Given the description of an element on the screen output the (x, y) to click on. 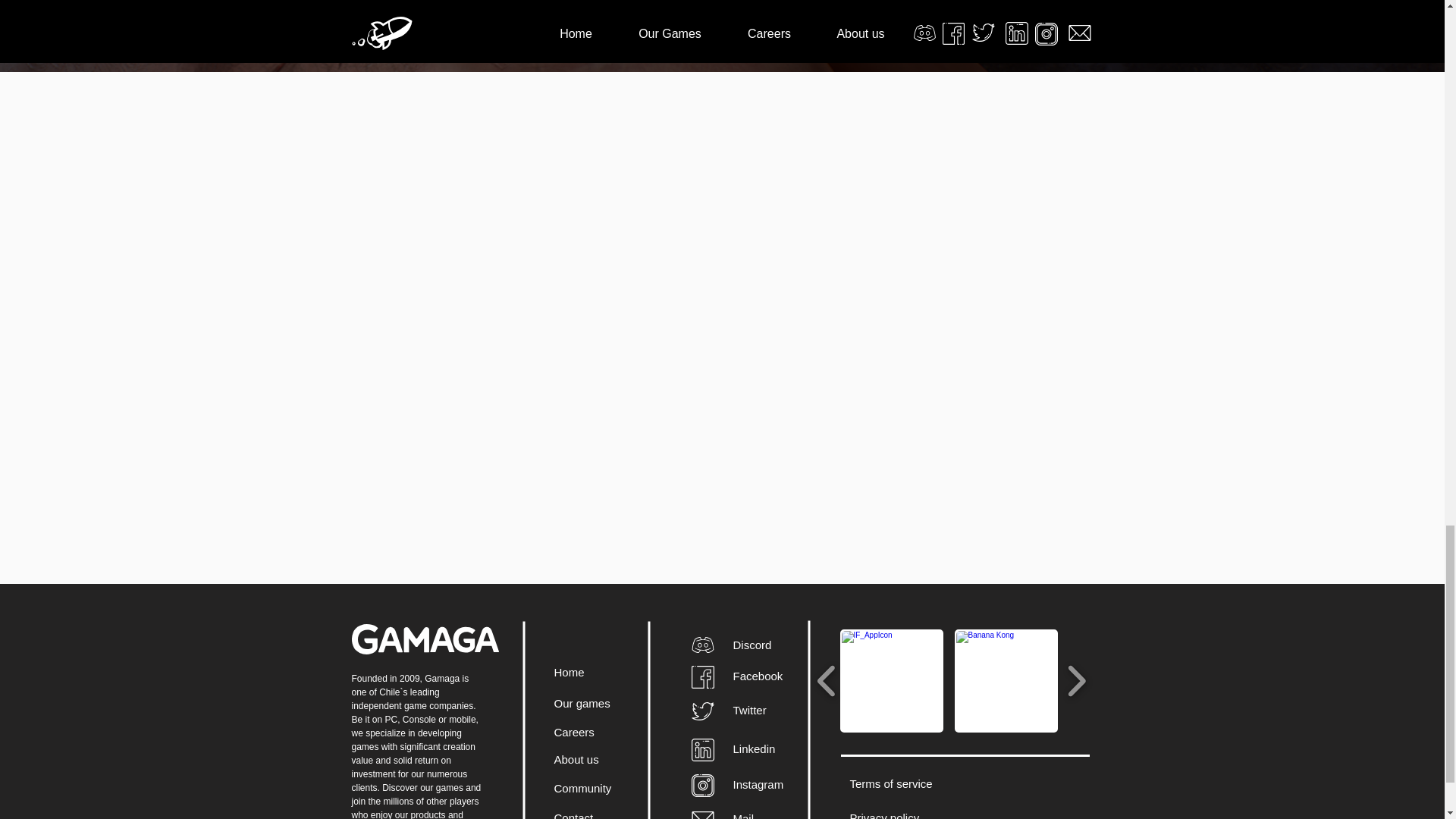
Twitter (748, 709)
Linkedin (753, 748)
Facebook (757, 675)
Mail (743, 815)
Discord (751, 644)
Home (568, 671)
Instagram (757, 784)
